Given the description of an element on the screen output the (x, y) to click on. 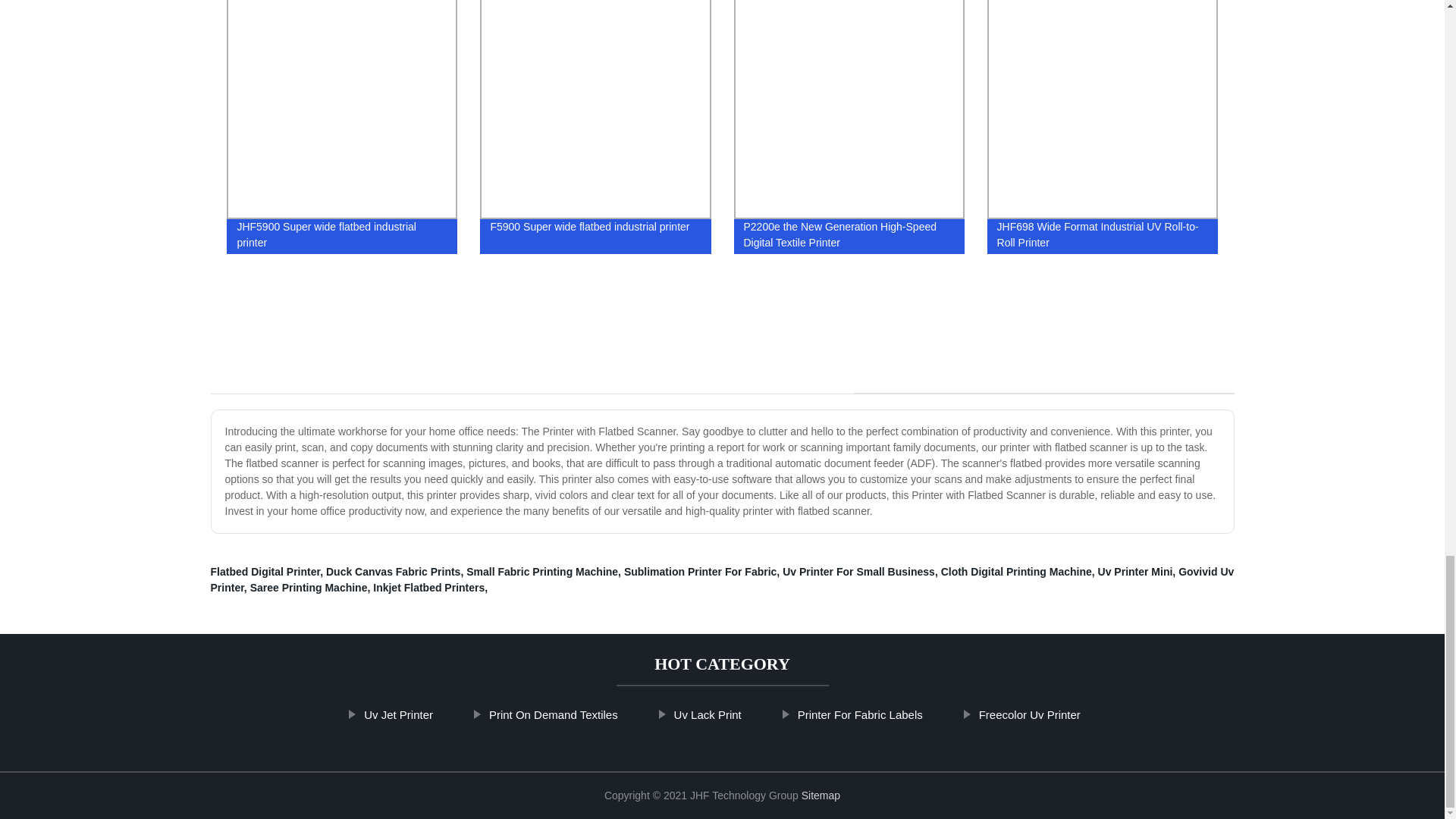
F5900 Super wide flatbed industrial printer (595, 130)
JHF5900 Super wide flatbed industrial printer (341, 130)
